Given the description of an element on the screen output the (x, y) to click on. 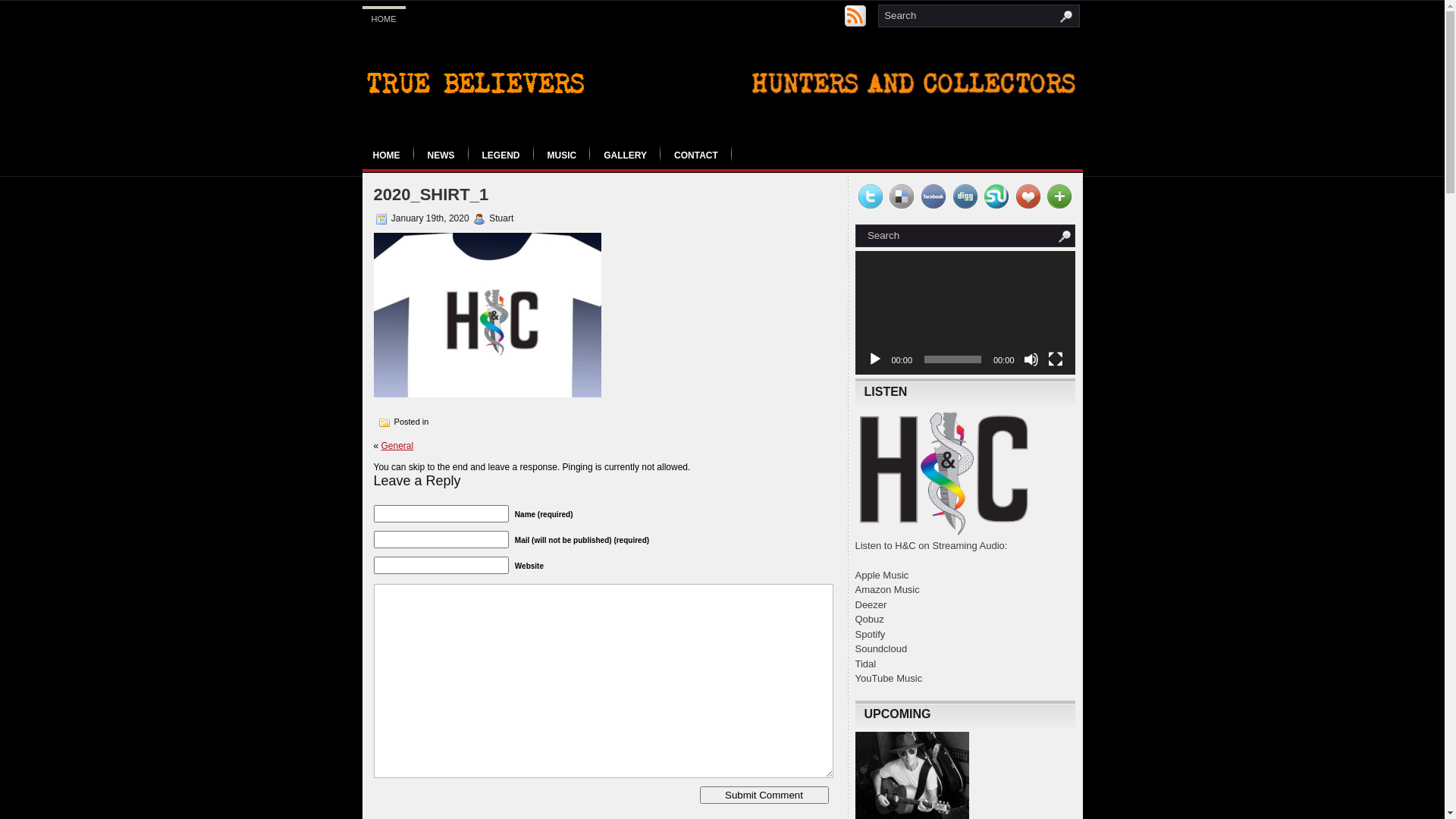
Mute Element type: hover (1030, 359)
True Believers Element type: hover (479, 83)
CONTACT Element type: text (695, 155)
HOME Element type: text (386, 155)
Spotify Element type: text (870, 633)
YouTube Music Element type: text (888, 678)
LEGEND Element type: text (500, 155)
GALLERY Element type: text (625, 155)
HOME Element type: text (384, 17)
NEWS Element type: text (441, 155)
Fullscreen Element type: hover (1055, 359)
Submit Comment Element type: text (763, 794)
General Element type: text (397, 445)
Apple Music Element type: text (882, 574)
Qobuz Element type: text (869, 618)
MUSIC Element type: text (561, 155)
Deezer Element type: text (871, 604)
Soundcloud Element type: text (881, 648)
Tidal Element type: text (865, 663)
Amazon Music Element type: text (887, 589)
Play Element type: hover (874, 359)
